Given the description of an element on the screen output the (x, y) to click on. 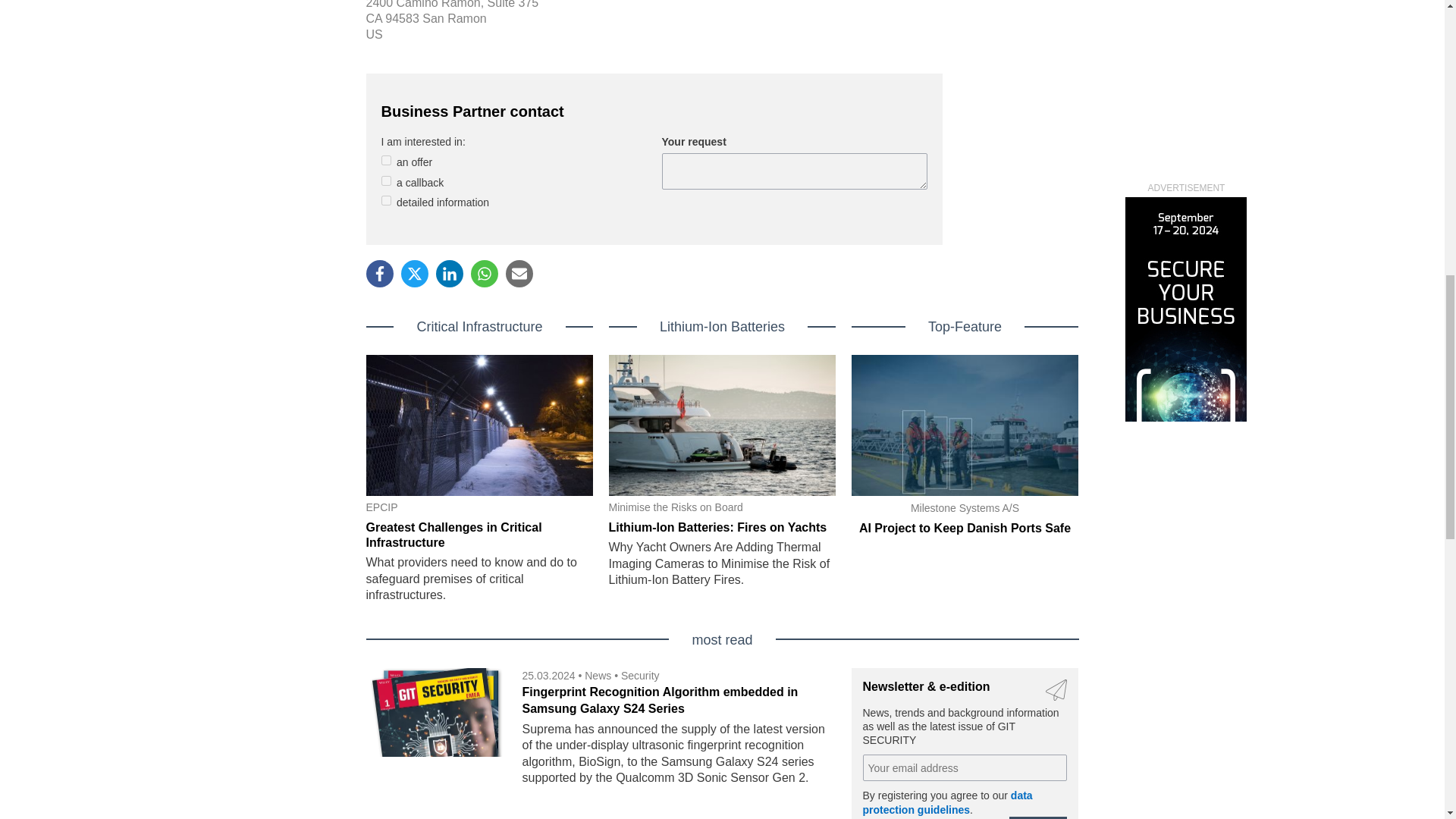
Share via e-mail (518, 273)
Share on twitter (414, 273)
offer (385, 160)
Share on WhatsApp (483, 273)
Assa Aboy's battery-powered Aperio KL100 secures lockers (736, 518)
Share on Linked-in (449, 273)
recall (385, 180)
info (385, 200)
Greatest Challenges in Critical Infrastructure (453, 534)
Share on facebook (379, 273)
Lithium-Ion Batteries: Fires on Yachts (717, 526)
